Given the description of an element on the screen output the (x, y) to click on. 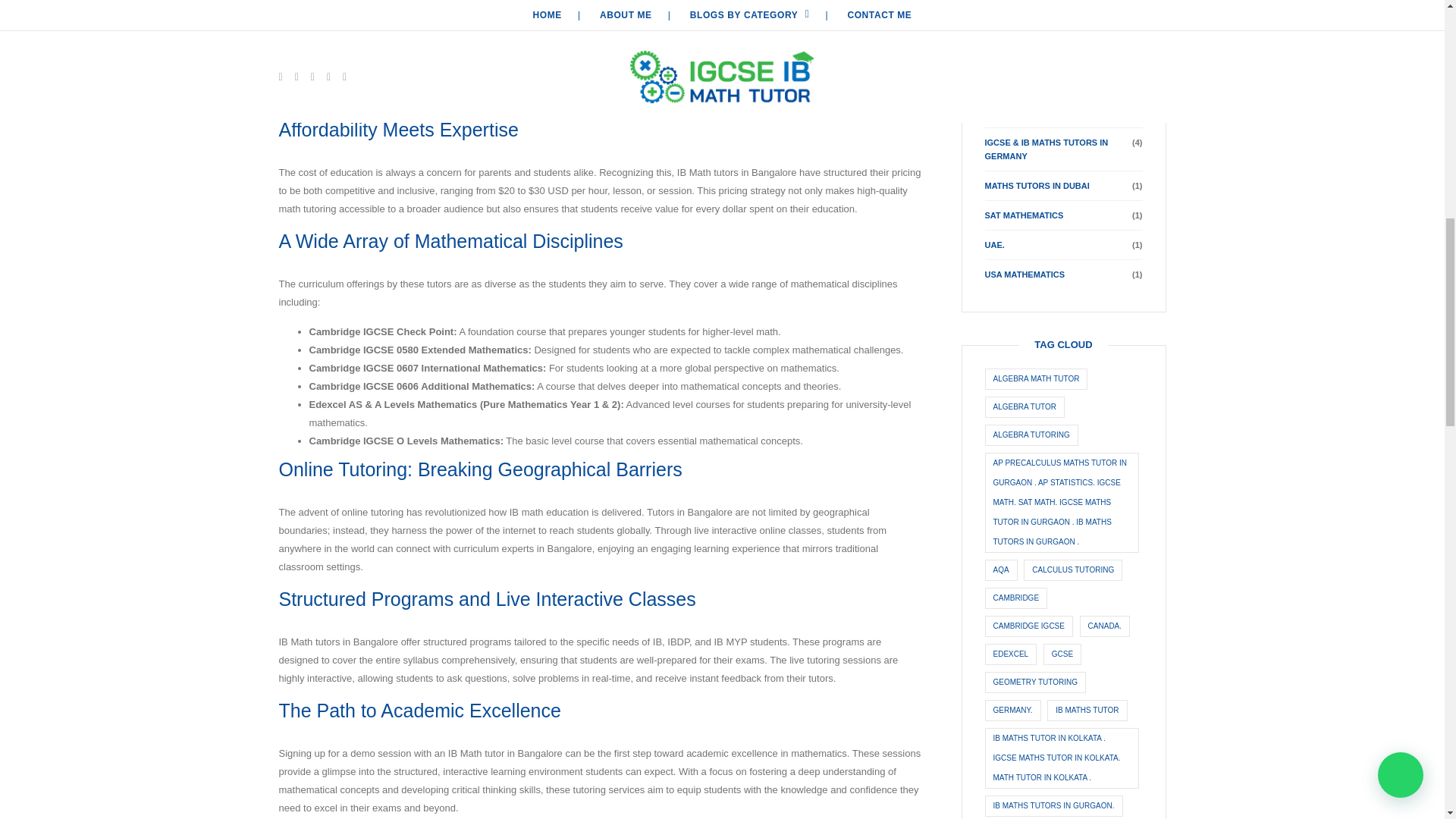
GENERAL (1004, 82)
UAE. (994, 244)
MATHS TUTORS IN DUBAI (1036, 185)
SAT MATHEMATICS (1023, 215)
IB MATHEMATICS (1019, 112)
CAMBRIDGE IGCSE (1024, 53)
